Given the description of an element on the screen output the (x, y) to click on. 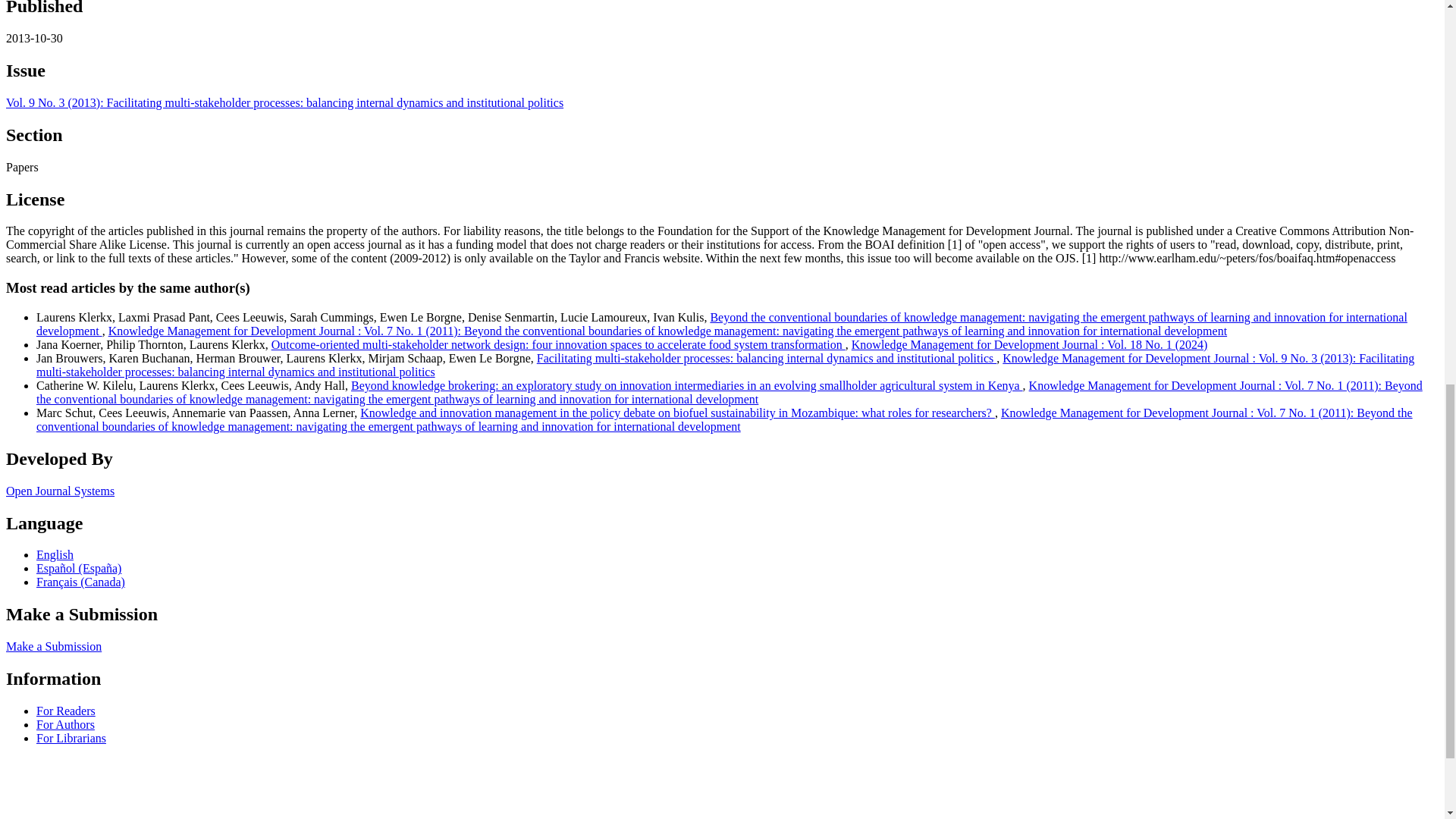
Open Journal Systems (60, 490)
English (55, 554)
Make a Submission (53, 645)
